Given the description of an element on the screen output the (x, y) to click on. 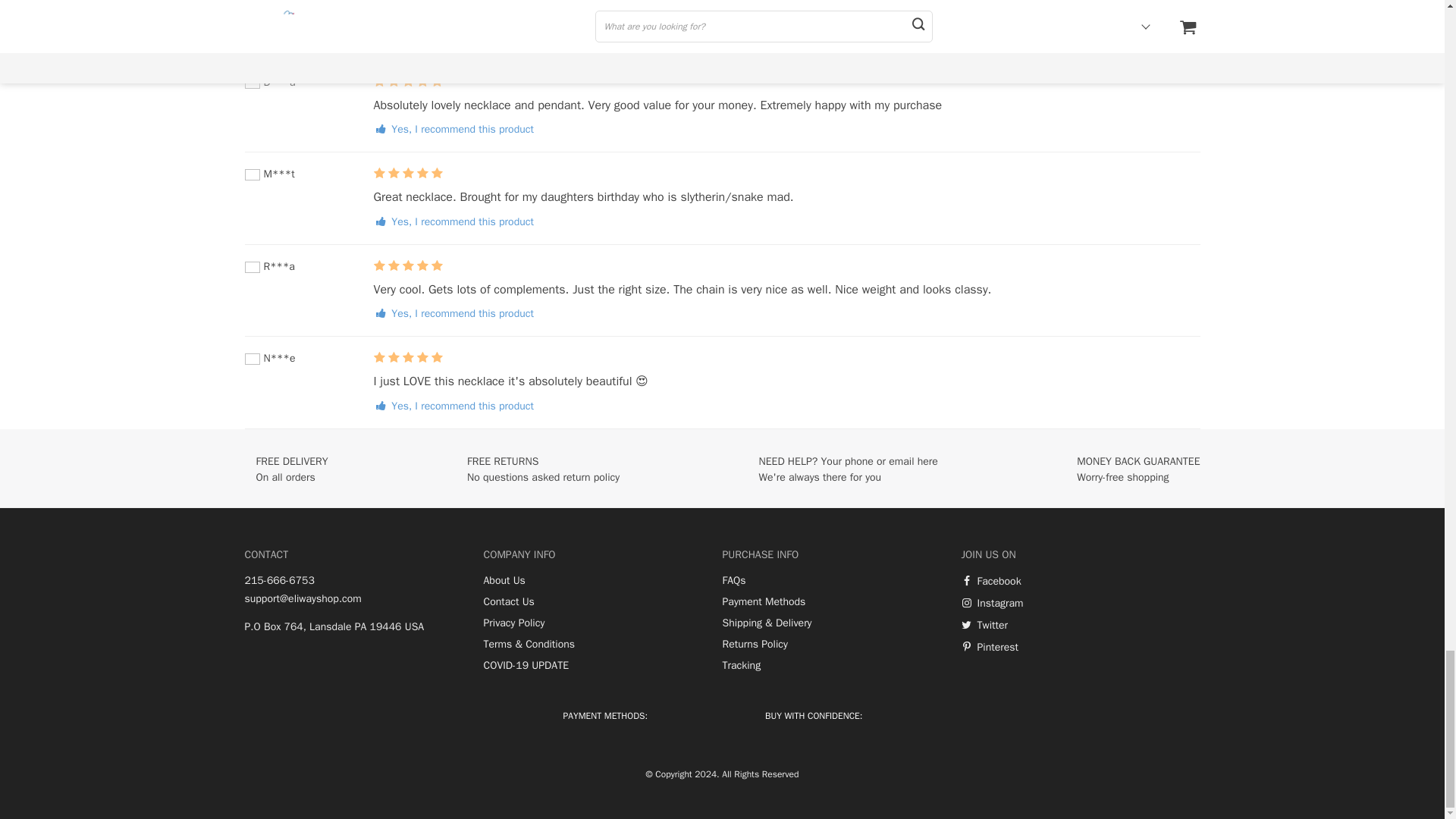
Contact Us (508, 602)
215-666-6753 (279, 581)
About Us (504, 581)
